Given the description of an element on the screen output the (x, y) to click on. 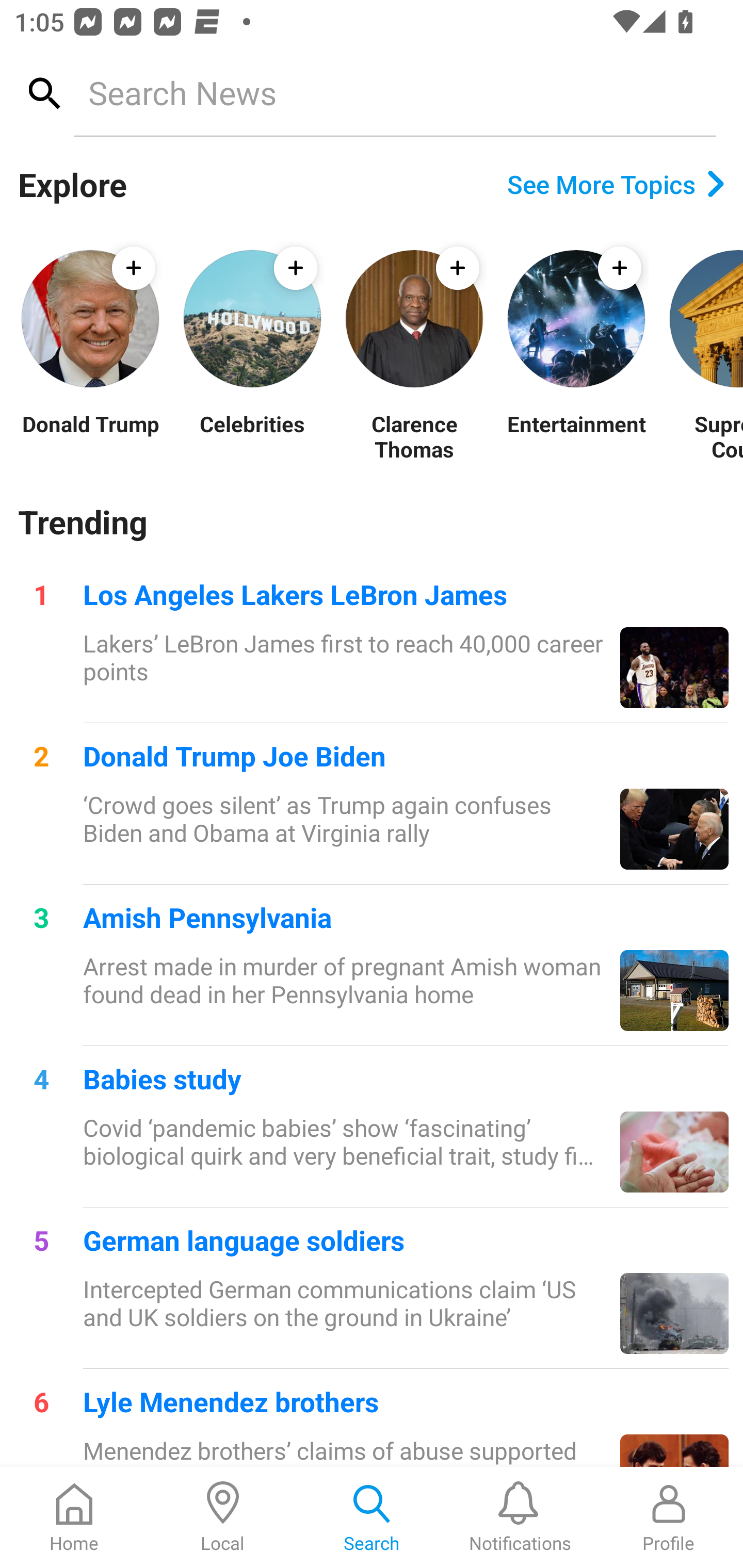
Search News (394, 92)
See More Topics (616, 183)
Donald Trump (89, 436)
Celebrities (251, 436)
Clarence Thomas (413, 436)
Entertainment (575, 436)
Home (74, 1517)
Local (222, 1517)
Notifications (519, 1517)
Profile (668, 1517)
